Given the description of an element on the screen output the (x, y) to click on. 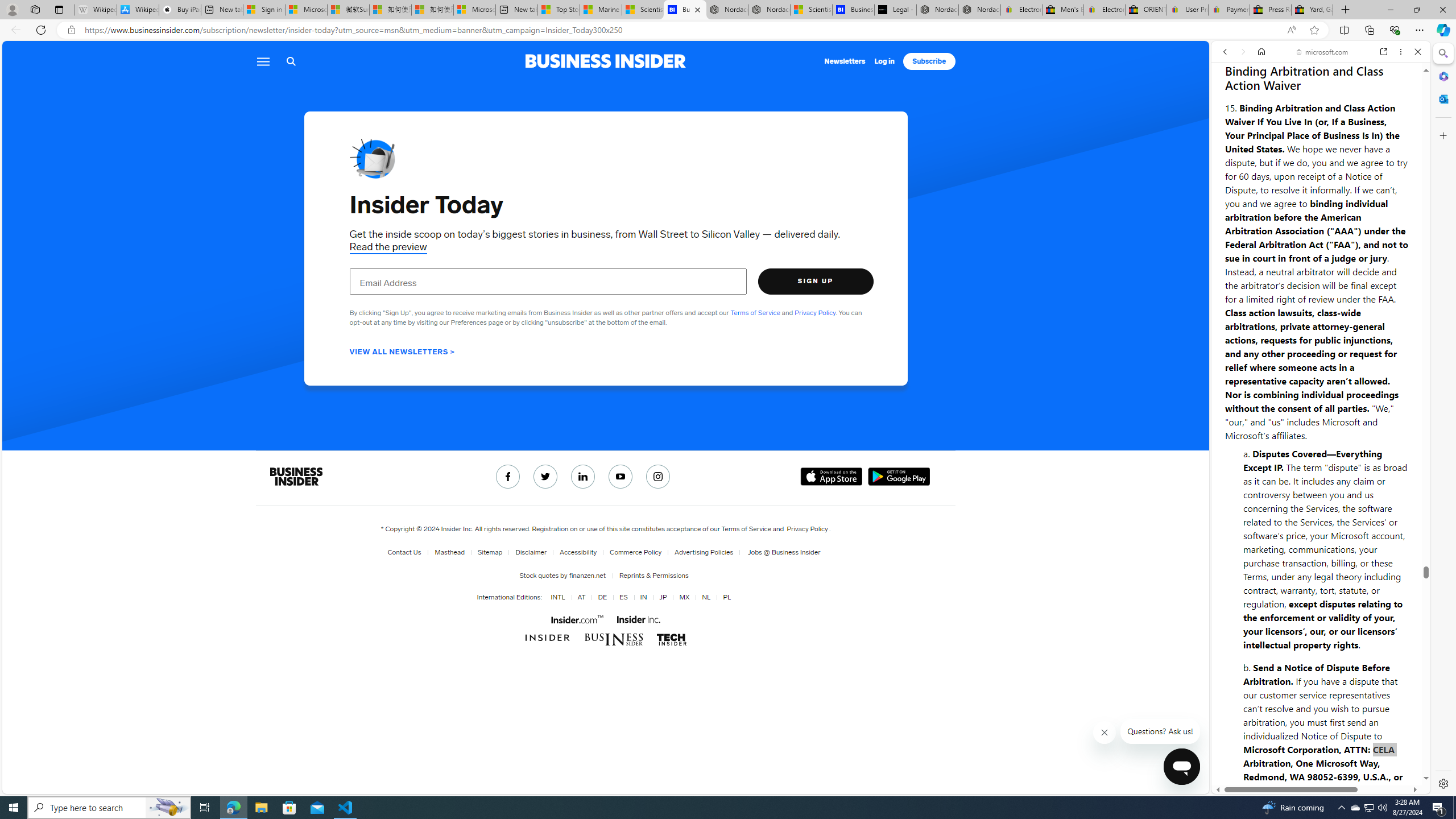
AT (580, 597)
Advertising Policies (700, 552)
Get it on Google Play (898, 476)
IN (641, 597)
finanzen.net (585, 575)
MX (681, 597)
Reprints & Permissions (651, 575)
